Given the description of an element on the screen output the (x, y) to click on. 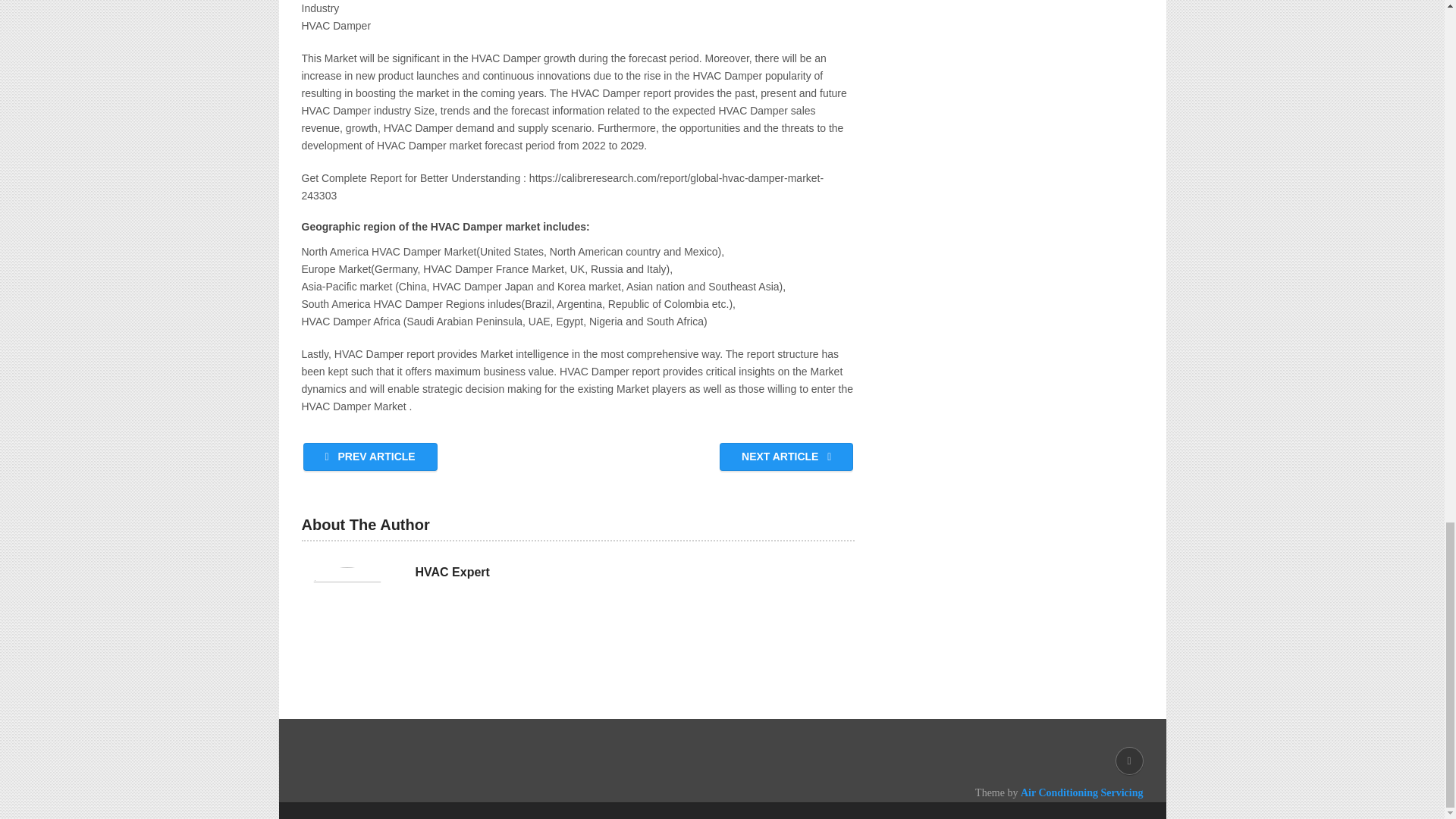
NEXT ARTICLE (786, 456)
Air Conditioning Servicing (1081, 792)
AIR CONDITIONING SERVICING (464, 792)
 AIR CONDITIONING SERVICING DAILY (464, 792)
HVAC Expert (451, 572)
PREV ARTICLE (370, 456)
